Given the description of an element on the screen output the (x, y) to click on. 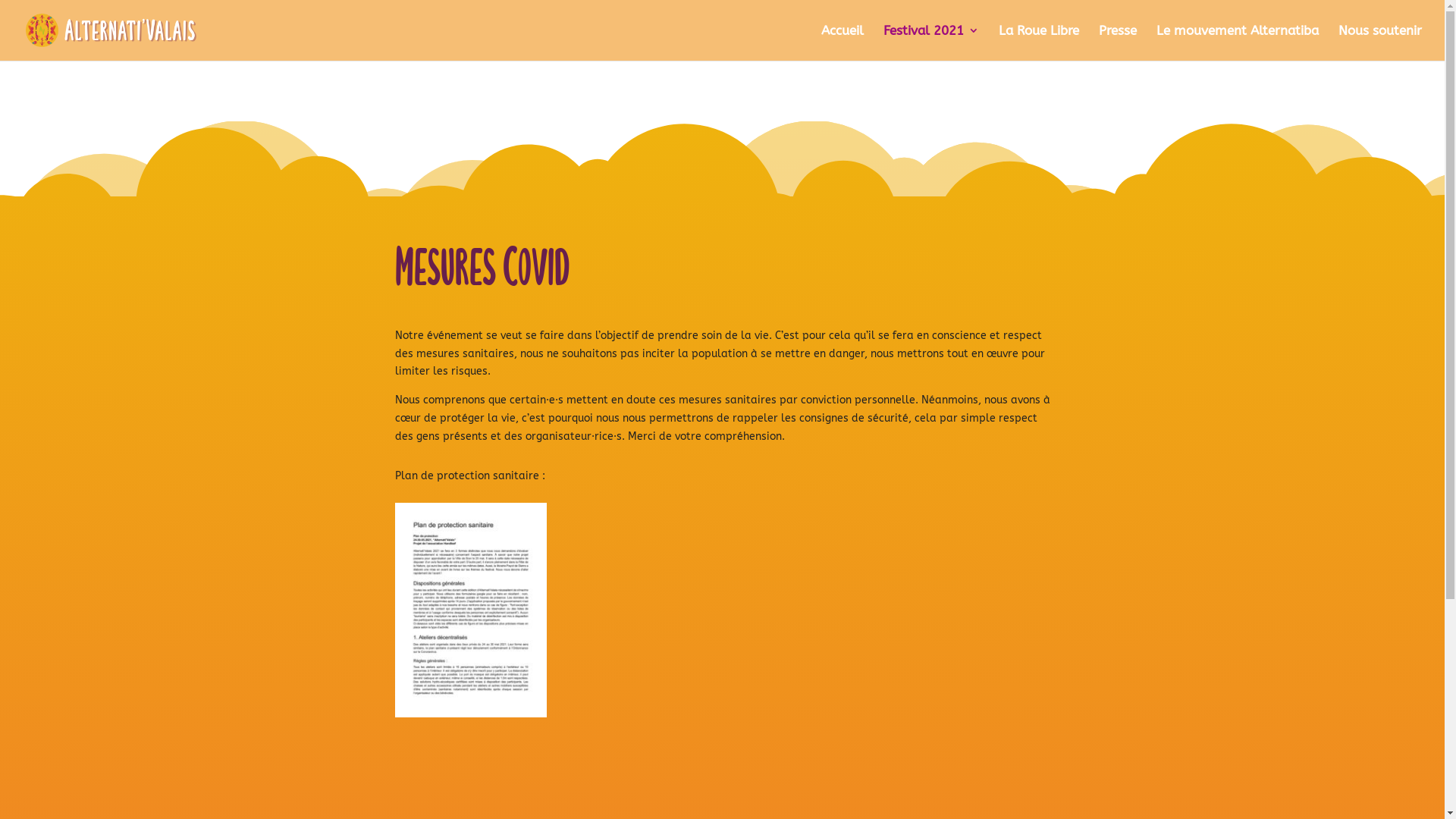
Accueil Element type: text (842, 42)
Nous soutenir Element type: text (1379, 42)
Presse Element type: text (1117, 42)
AlternatiValais_Plan_protection (1) Element type: hover (470, 609)
Festival 2021 Element type: text (931, 42)
Le mouvement Alternatiba Element type: text (1237, 42)
La Roue Libre Element type: text (1038, 42)
